Given the description of an element on the screen output the (x, y) to click on. 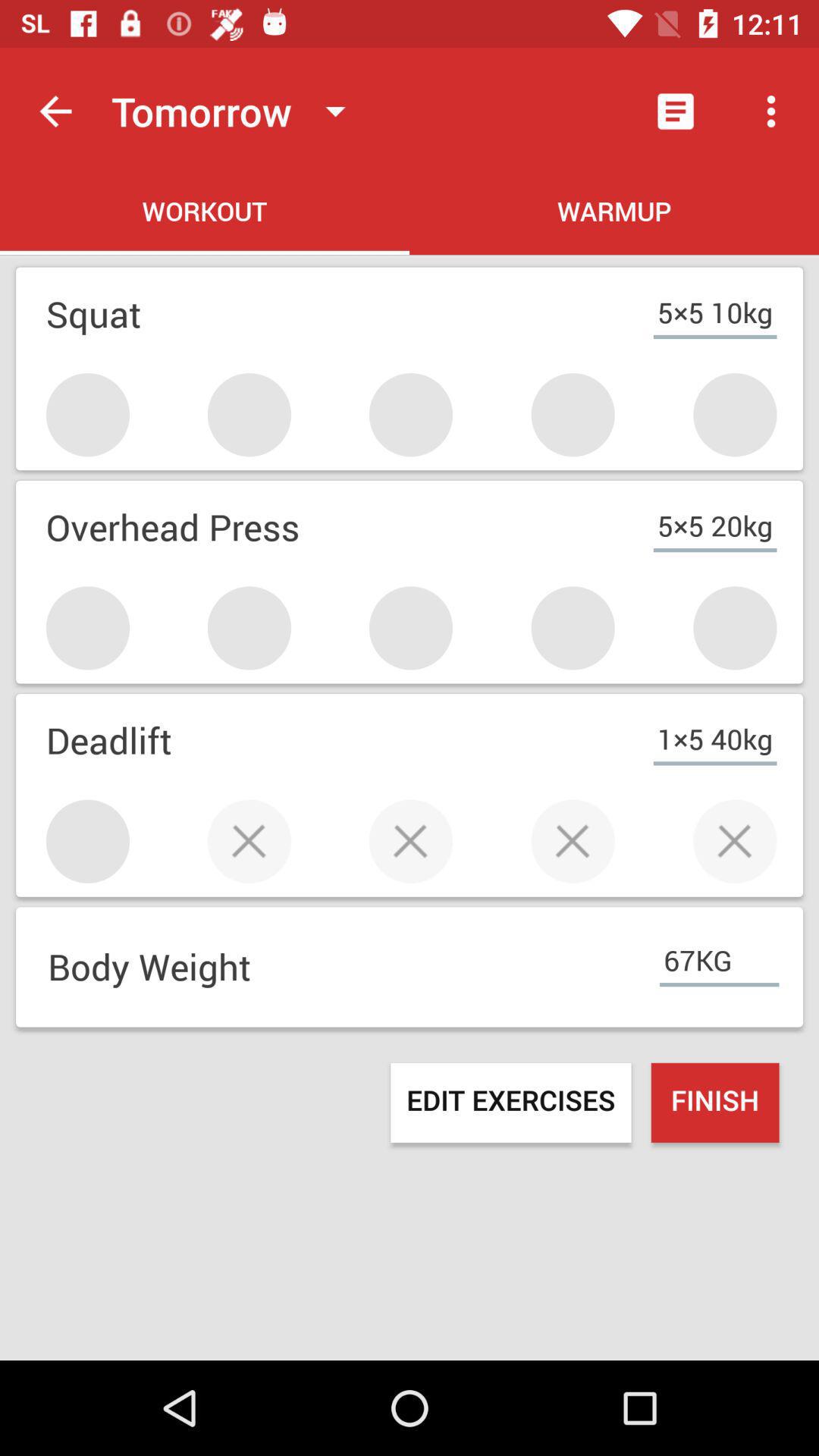
tap the item next to tomorrow icon (675, 111)
